Given the description of an element on the screen output the (x, y) to click on. 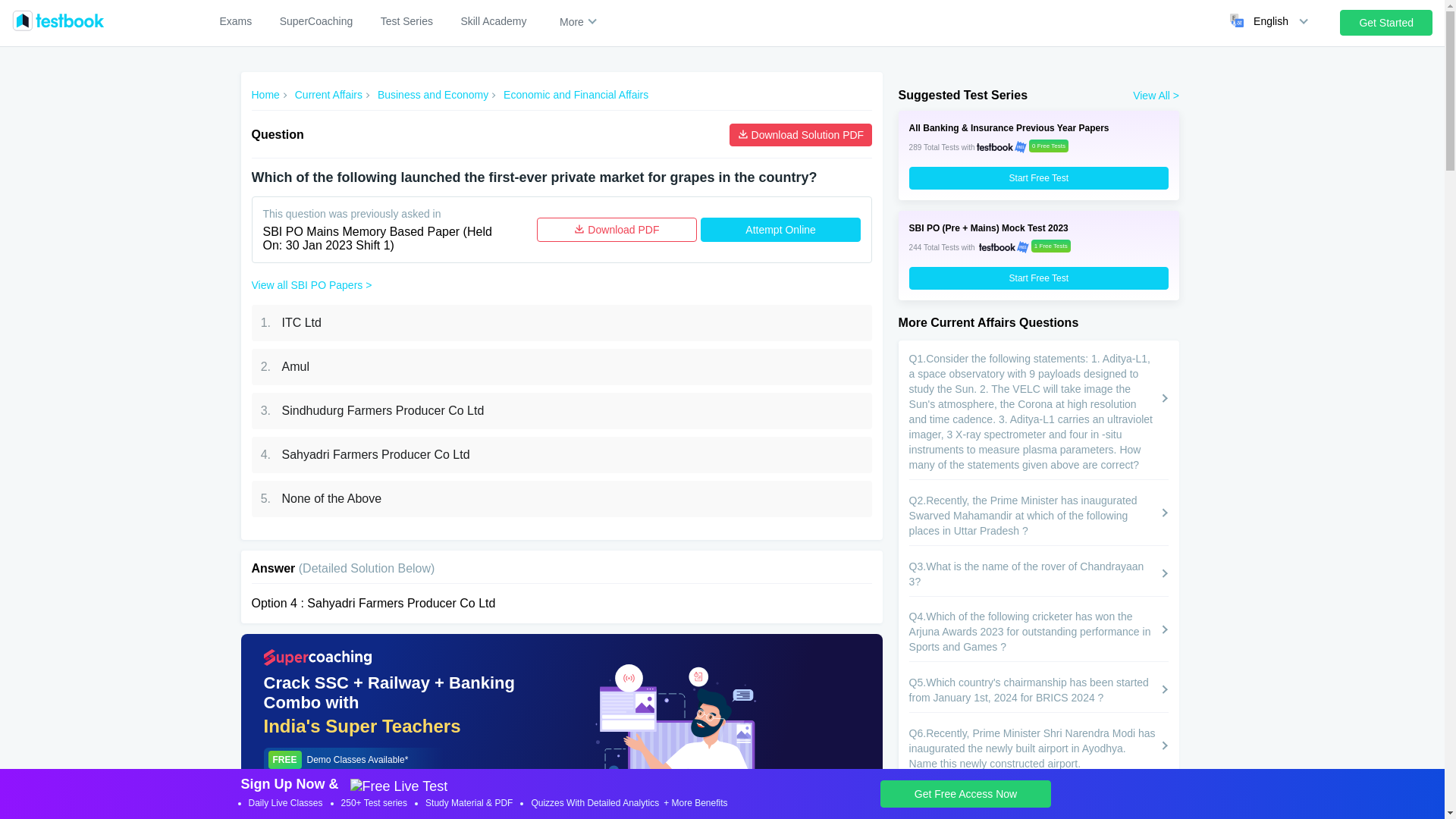
Business and Economy (432, 94)
Economic and Financial Affairs (575, 94)
Download Solution PDF (800, 134)
Home (265, 94)
Attempt Online (780, 229)
Skill Academy (493, 21)
Current Affairs (328, 94)
SuperCoaching (316, 21)
Test Series (406, 21)
Economic and Financial Affairs (575, 94)
Get Started (1385, 22)
Download PDF (617, 229)
Exams (234, 21)
Business and Economy (432, 94)
Current Affairs (328, 94)
